Given the description of an element on the screen output the (x, y) to click on. 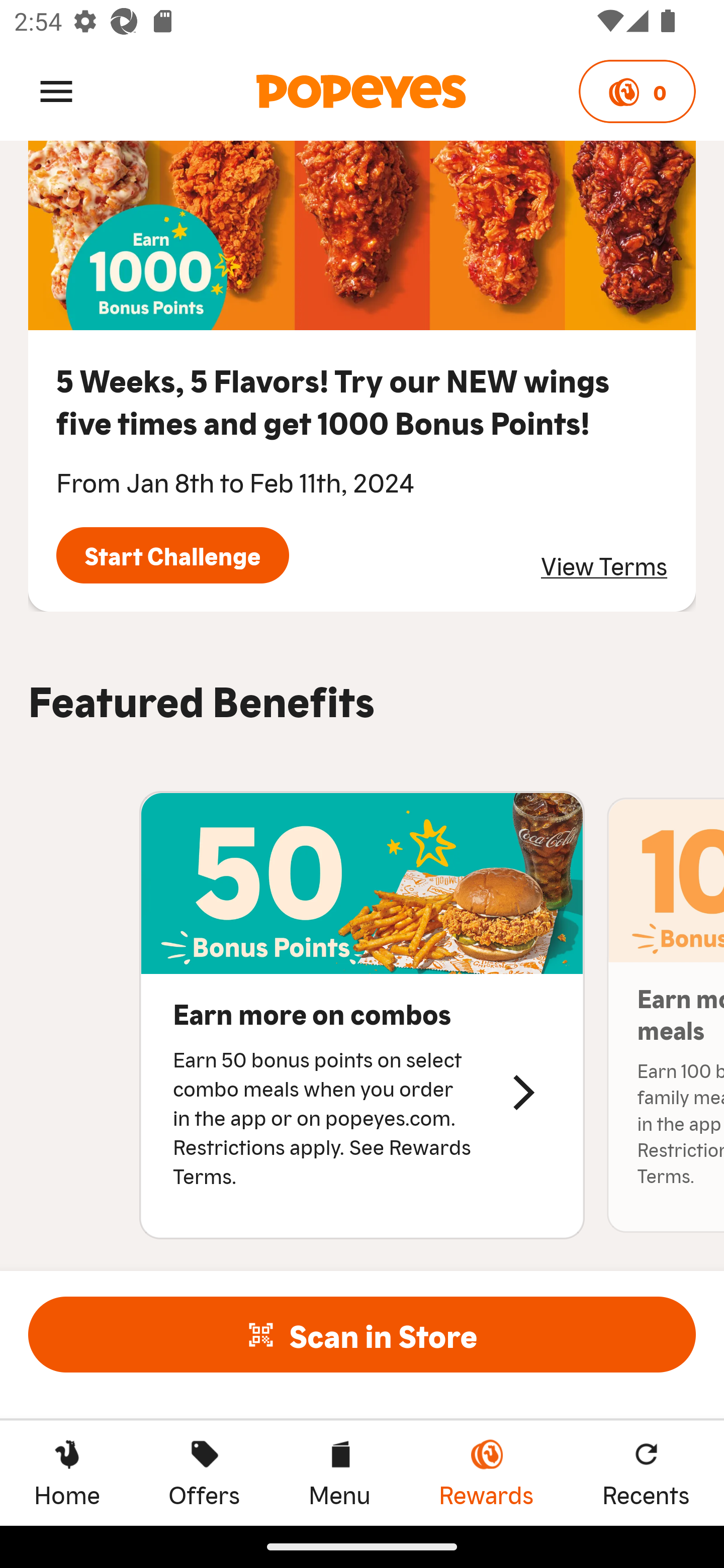
Menu  (56, 90)
0 Points 0 (636, 91)
quest image (361, 235)
Start Challenge (172, 554)
View Terms (603, 564)
Scan in Store  Scan in Store (361, 1334)
Home Home Home (66, 1472)
Offers Offers Offers (203, 1472)
Menu Menu Menu (339, 1472)
Recents Recents Recents (646, 1472)
